Given the description of an element on the screen output the (x, y) to click on. 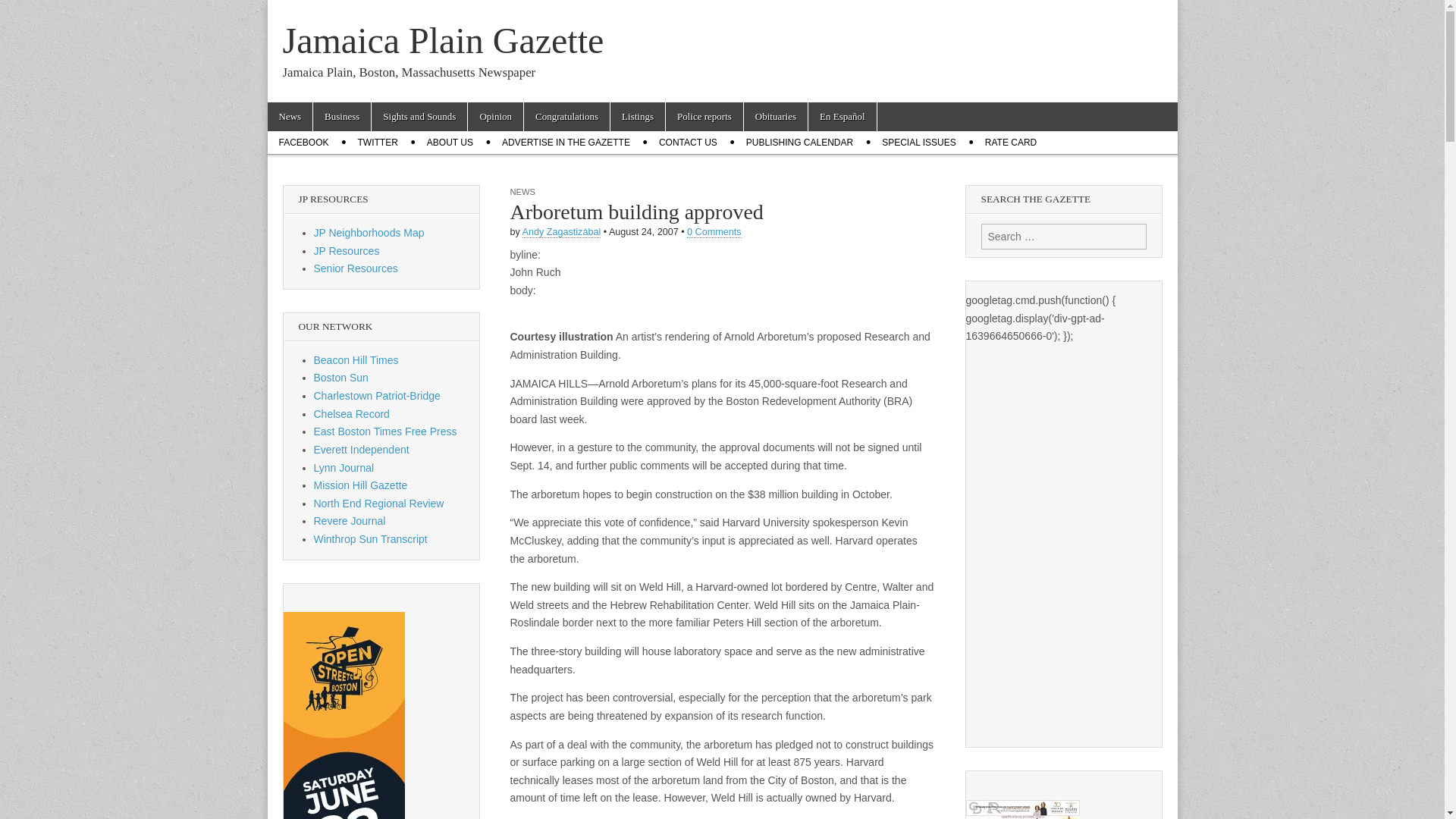
PUBLISHING CALENDAR (799, 142)
SPECIAL ISSUES (919, 142)
Business (342, 116)
Beacon Hill Times (356, 359)
Lynn Journal (344, 467)
JP Neighborhoods Map (369, 232)
Boston Sun (341, 377)
Charlestown Patriot-Bridge (377, 395)
